Given the description of an element on the screen output the (x, y) to click on. 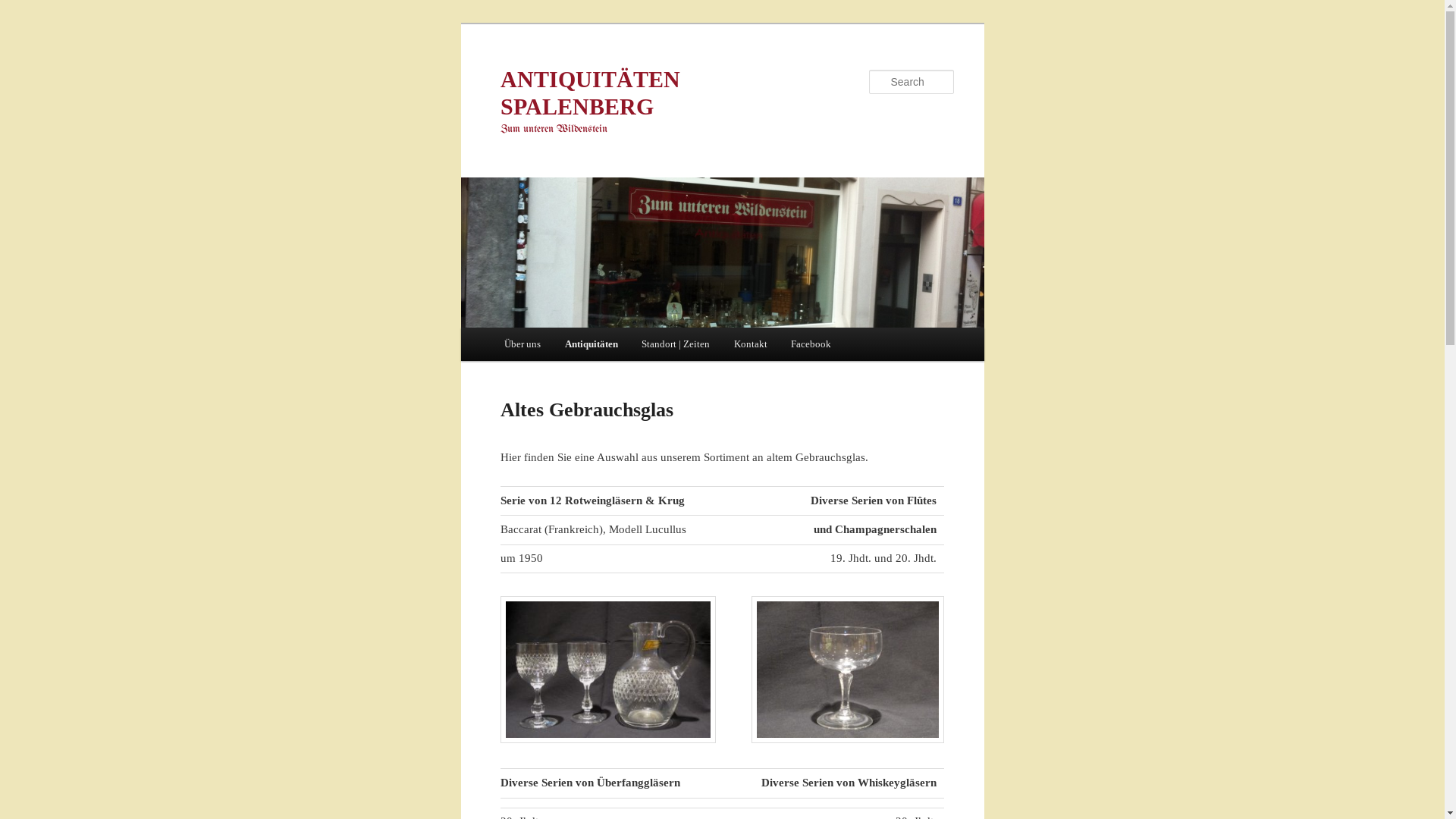
Search Element type: text (24, 8)
Kontakt Element type: text (750, 343)
Facebook Element type: text (810, 343)
Standort | Zeiten Element type: text (675, 343)
Skip to primary content Element type: text (22, 22)
